Given the description of an element on the screen output the (x, y) to click on. 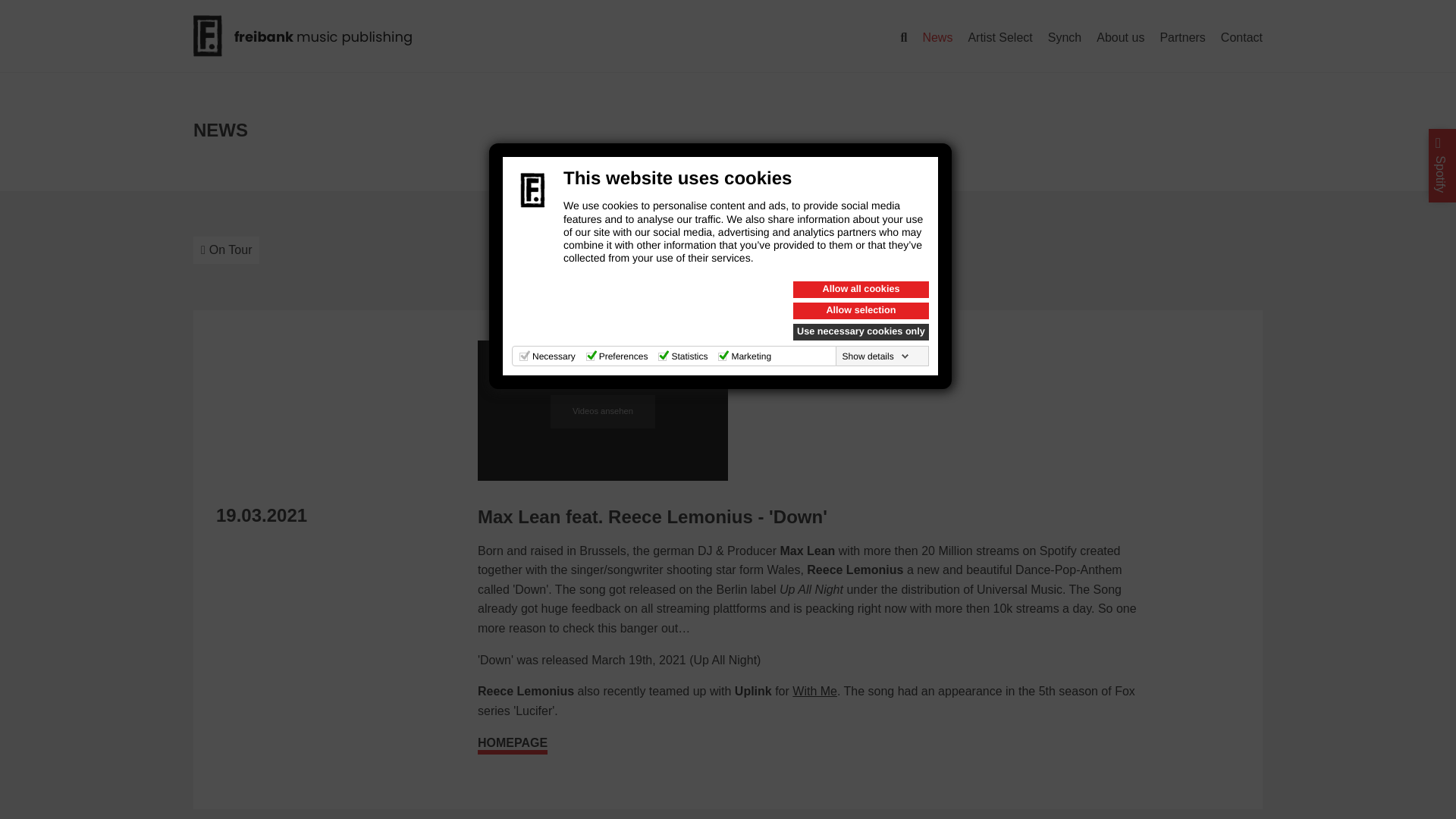
Videos ansehen (602, 411)
Show details (876, 356)
Allow selection (860, 310)
Allow all cookies (860, 289)
Use necessary cookies only (860, 331)
